Given the description of an element on the screen output the (x, y) to click on. 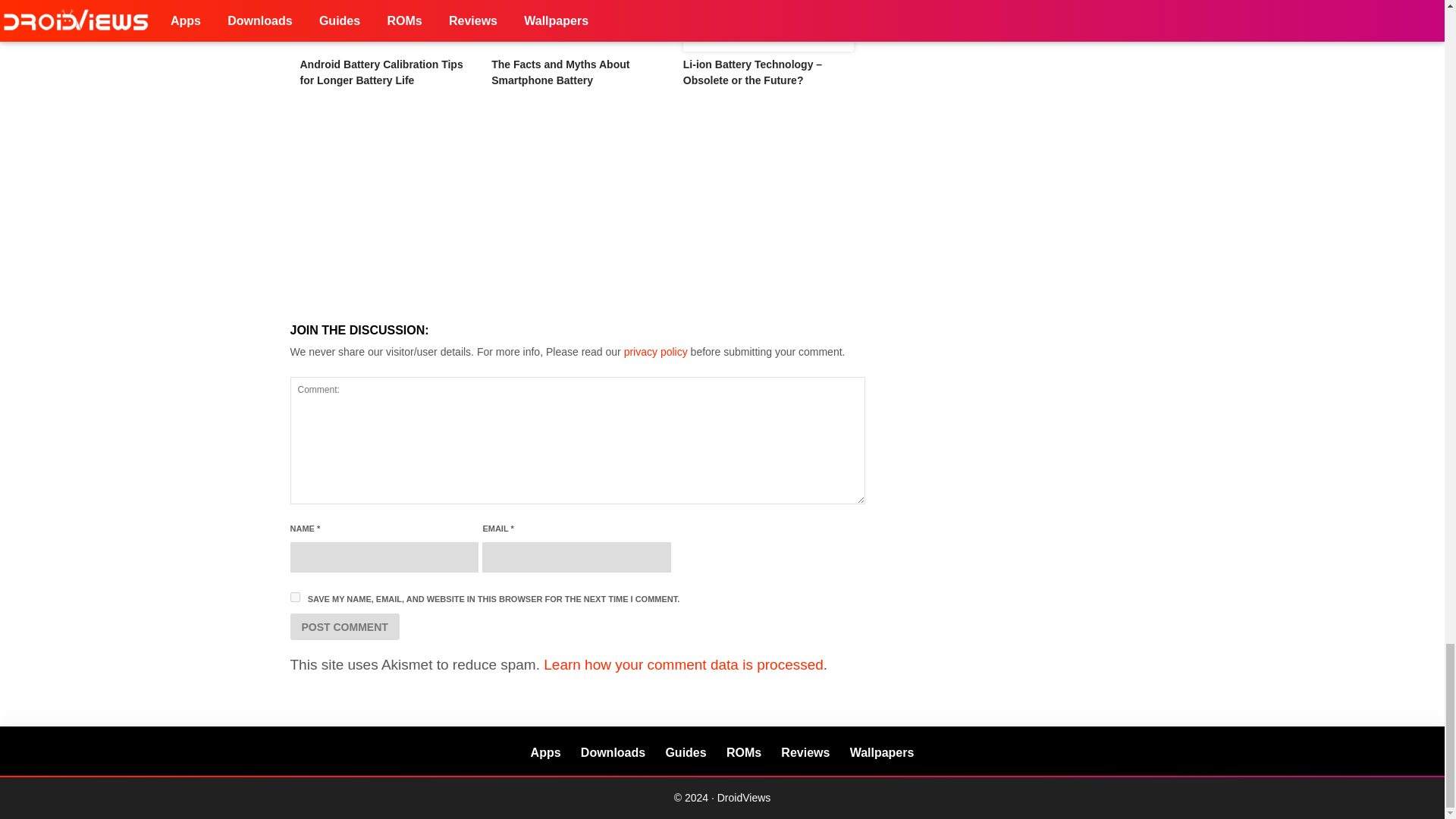
The Facts and Myths About Smartphone Battery (577, 25)
Post Comment (343, 626)
The Facts and Myths About Smartphone Battery (560, 72)
Android Battery Calibration Tips for Longer Battery Life (385, 25)
privacy policy (655, 351)
Downloads (612, 752)
comment-policy-title (655, 351)
Apps (545, 752)
Post Comment (343, 626)
Learn how your comment data is processed (683, 664)
yes (294, 596)
ROMs (743, 752)
Guides (685, 752)
Android Battery Calibration Tips for Longer Battery Life (381, 72)
